Given the description of an element on the screen output the (x, y) to click on. 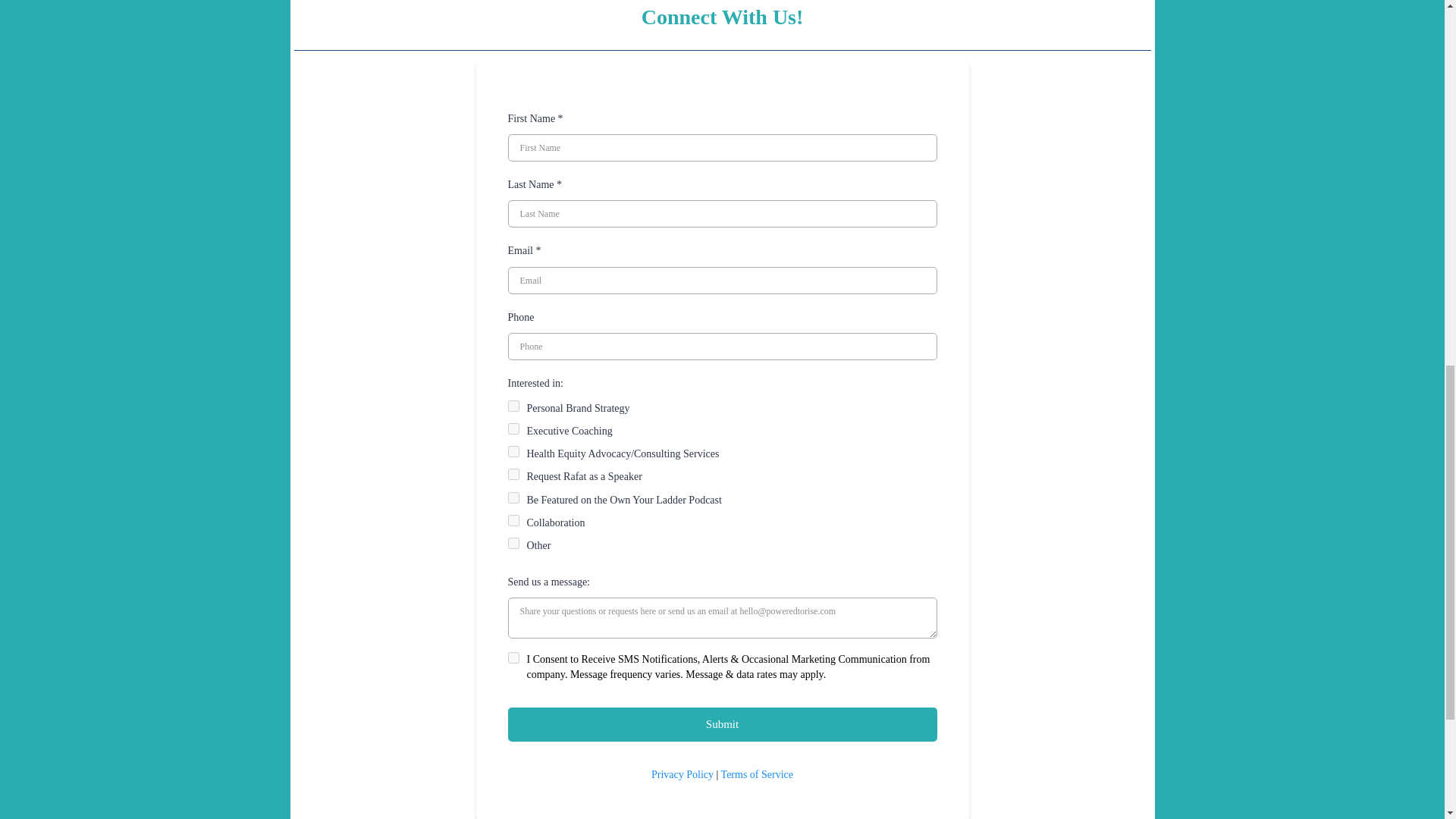
Personal Brand Strategy (513, 405)
Collaboration (513, 520)
Terms of Service (756, 774)
Request Rafat as a Speaker (513, 473)
Executive Coaching (513, 428)
Other (513, 542)
Be Featured on the Own Your Ladder Podcast (513, 497)
Privacy Policy (681, 774)
Submit (722, 724)
